Given the description of an element on the screen output the (x, y) to click on. 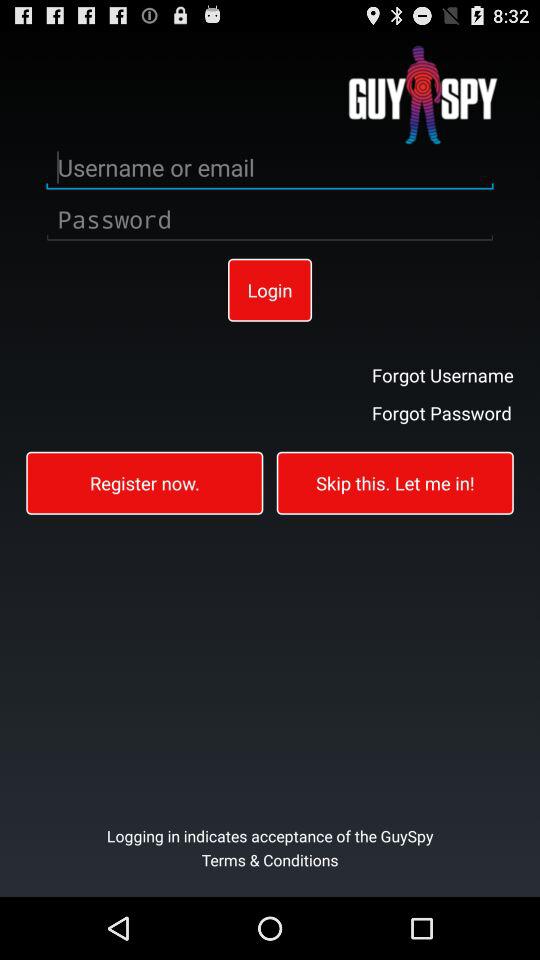
open the item above logging in indicates icon (394, 482)
